Given the description of an element on the screen output the (x, y) to click on. 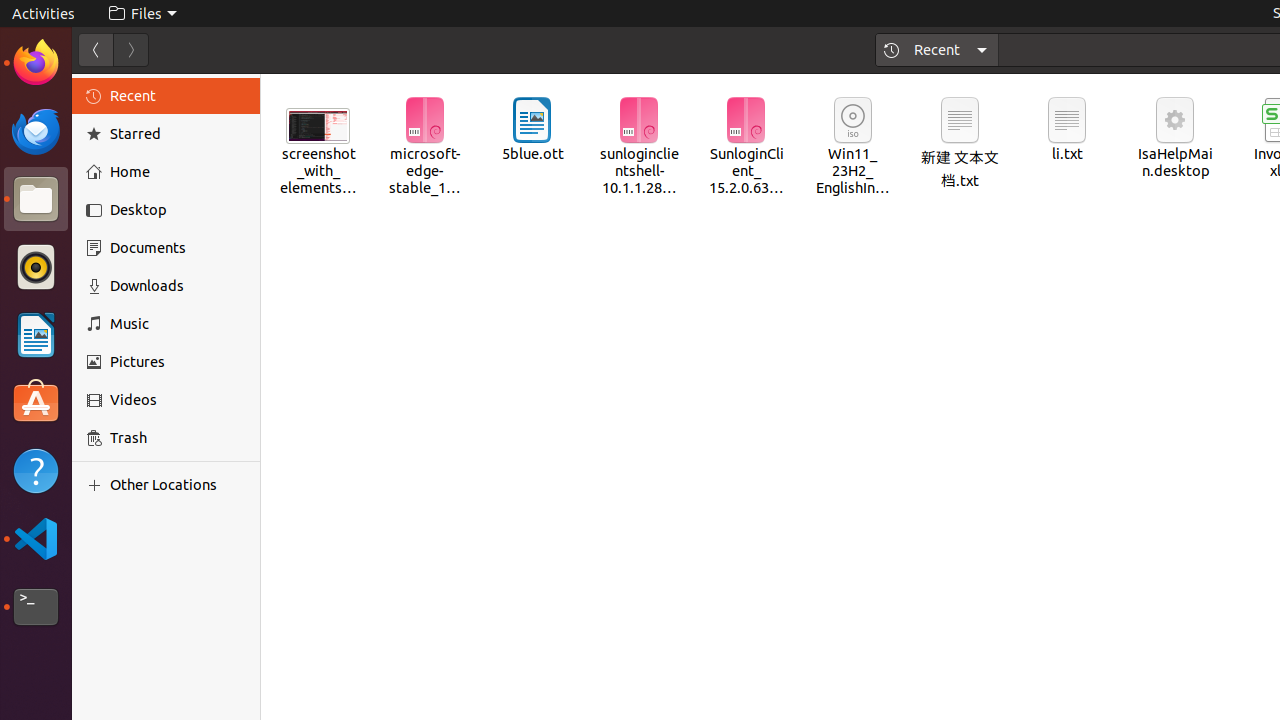
Win11_23H2_EnglishInternational_x64v2.iso Element type: canvas (853, 147)
